Given the description of an element on the screen output the (x, y) to click on. 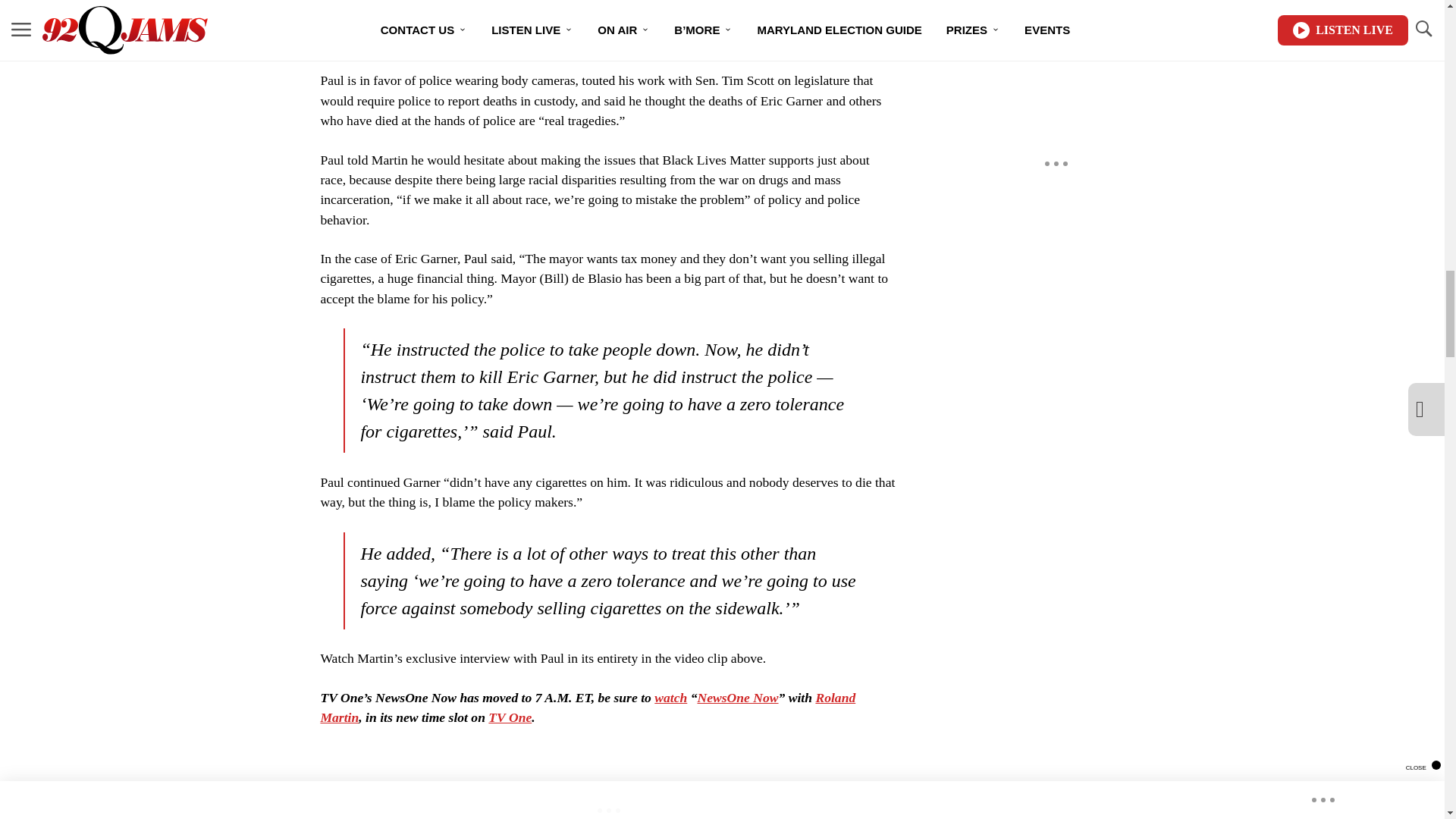
NewsOne Now with Roland Martin (670, 697)
NewsOne Now with Roland Martin (737, 697)
NewsOne Now with Roland Martin on TV One (509, 717)
